Given the description of an element on the screen output the (x, y) to click on. 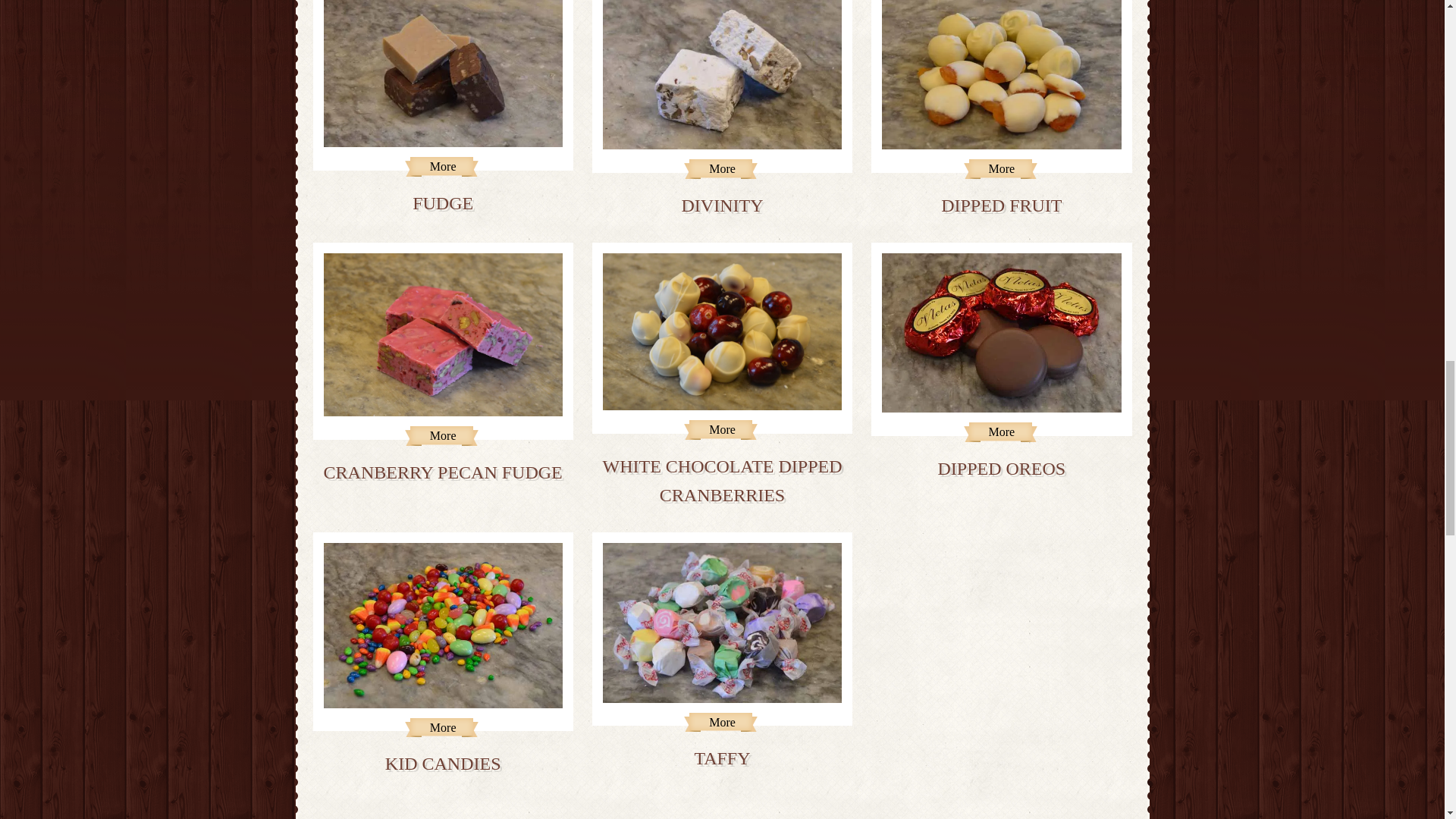
More (442, 435)
More (722, 168)
More (1001, 432)
More (1001, 168)
More (722, 429)
More (442, 166)
